Given the description of an element on the screen output the (x, y) to click on. 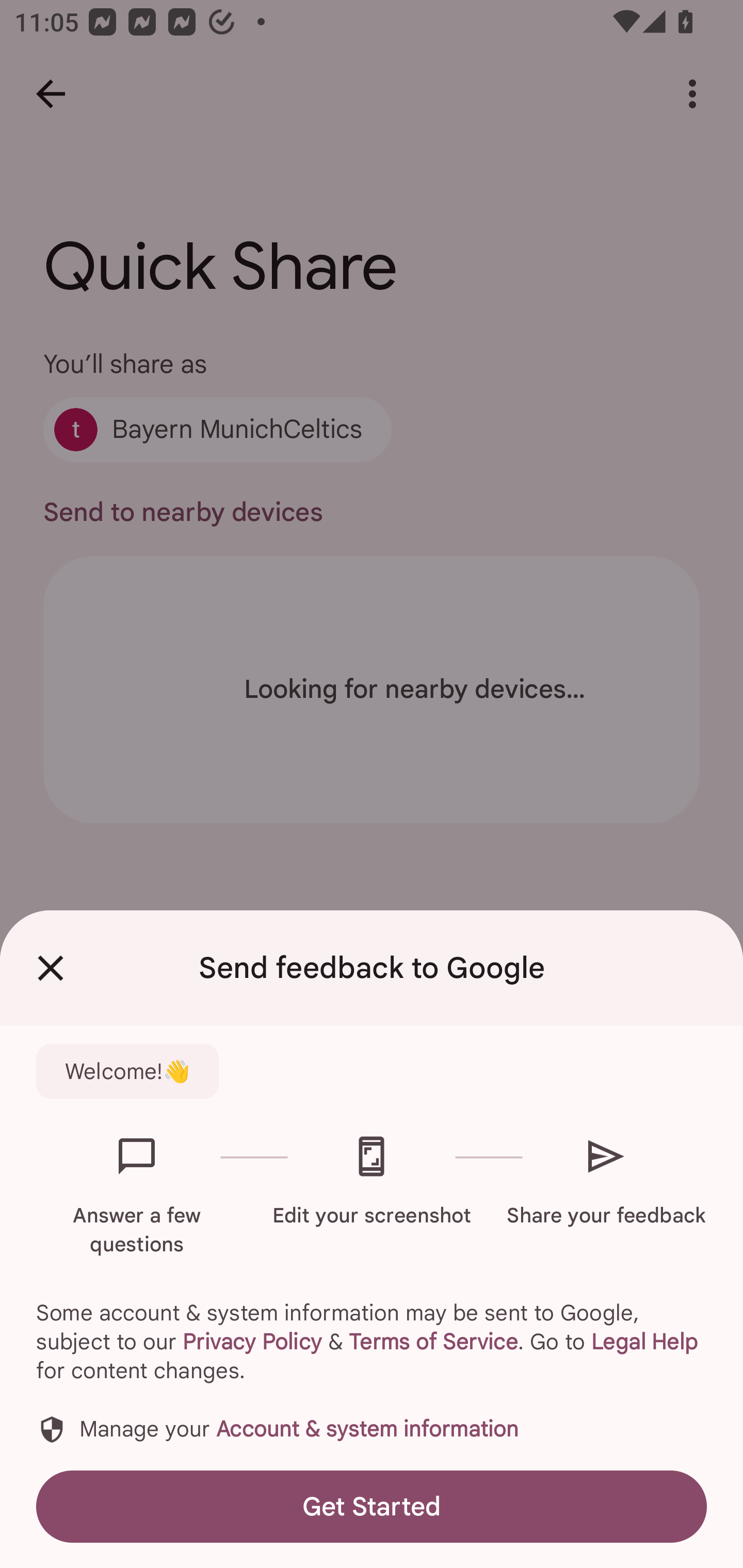
Close Feedback (50, 968)
Get Started (371, 1505)
